Given the description of an element on the screen output the (x, y) to click on. 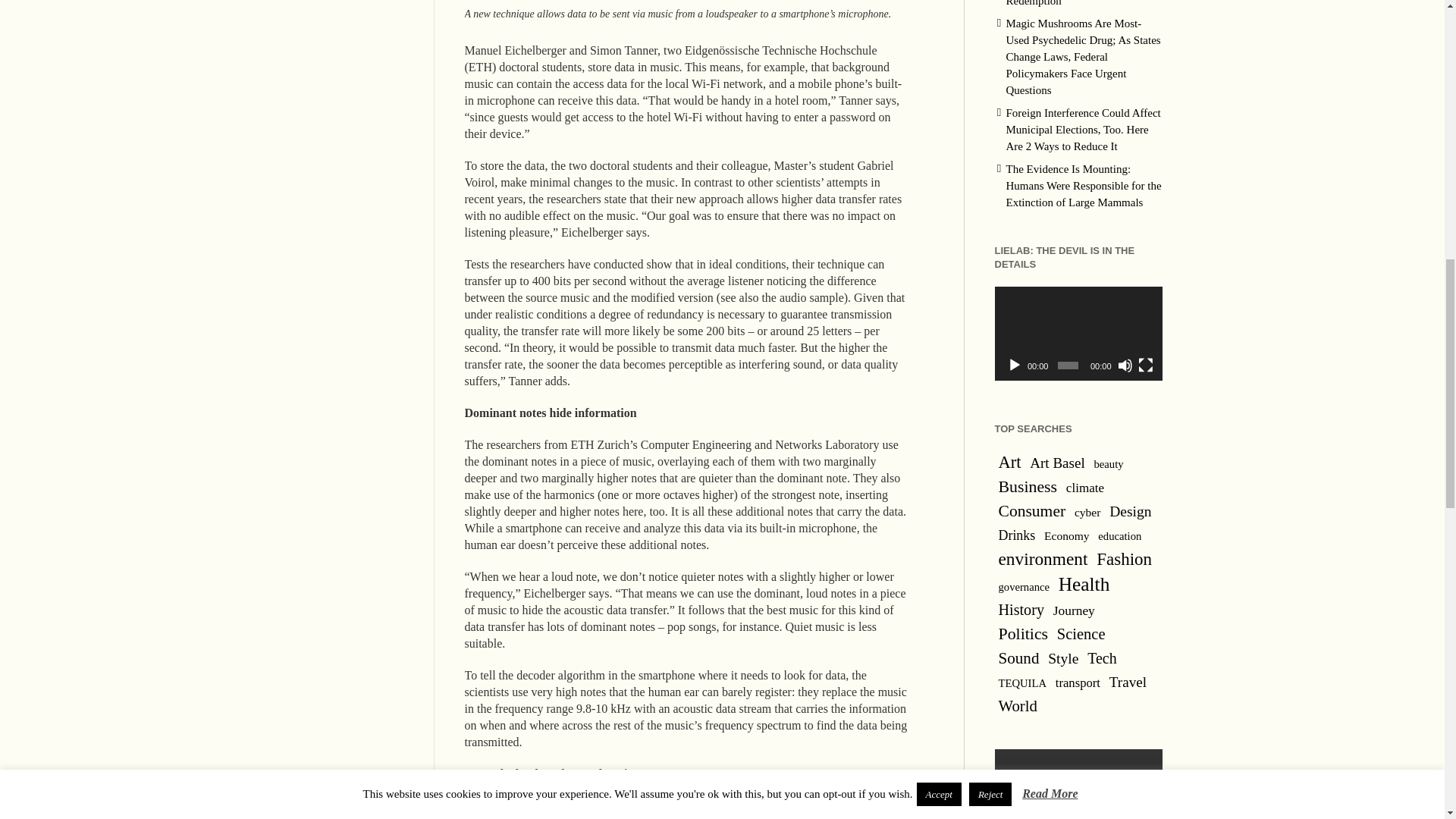
Art (1008, 462)
Mute (1125, 365)
beauty (1107, 463)
Play (1014, 365)
Fullscreen (1145, 365)
Art Basel (1056, 463)
